Given the description of an element on the screen output the (x, y) to click on. 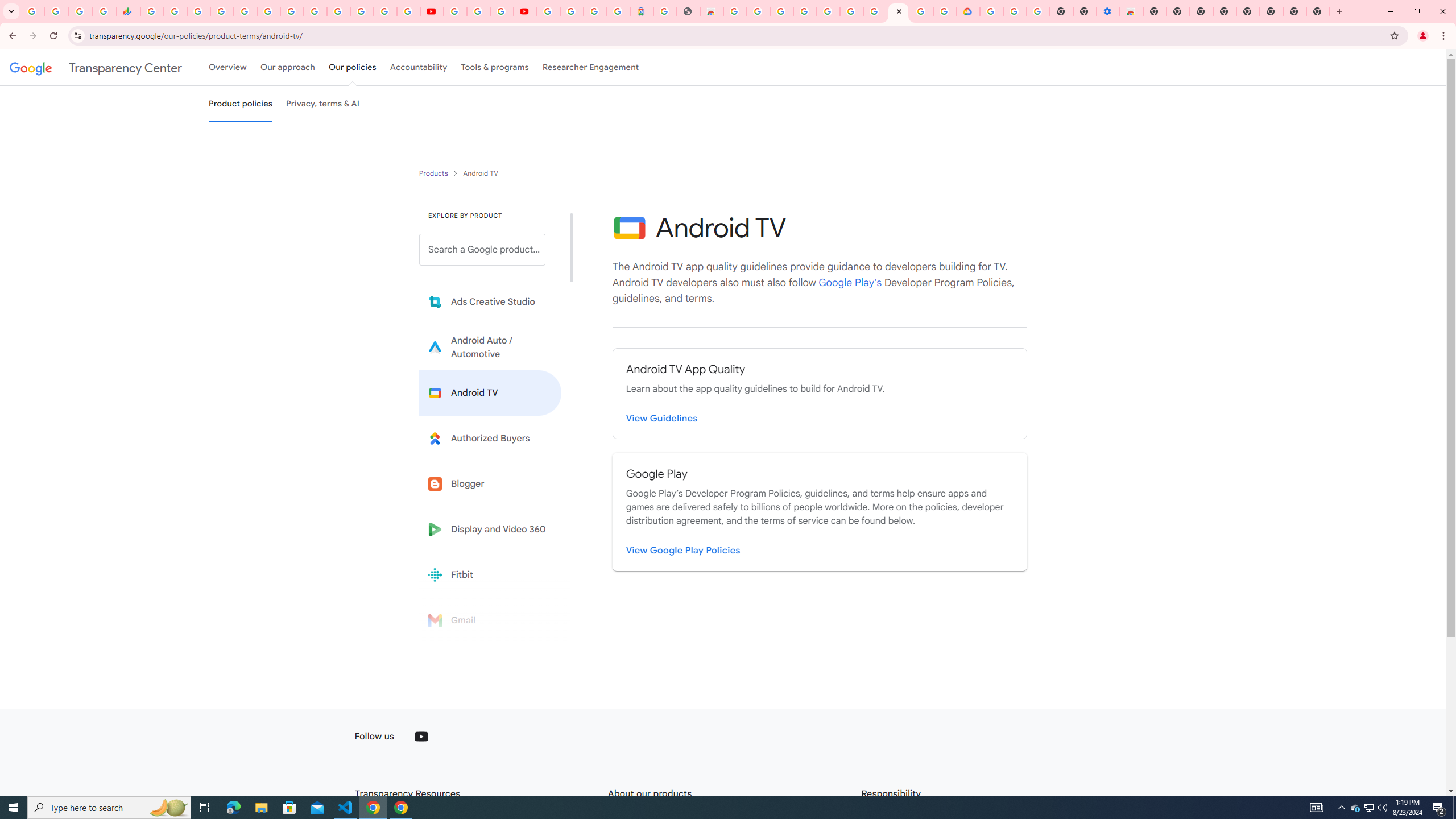
Gmail (490, 619)
Learn more about Authorized Buyers (490, 438)
Chrome Web Store - Accessibility extensions (1131, 11)
Content Creator Programs & Opportunities - YouTube Creators (524, 11)
Researcher Engagement (590, 67)
Fitbit (490, 574)
Android TV Policies and Guidelines - Transparency Center (897, 11)
YouTube (421, 736)
Our policies (351, 67)
Privacy, terms & AI (322, 103)
YouTube (314, 11)
